Given the description of an element on the screen output the (x, y) to click on. 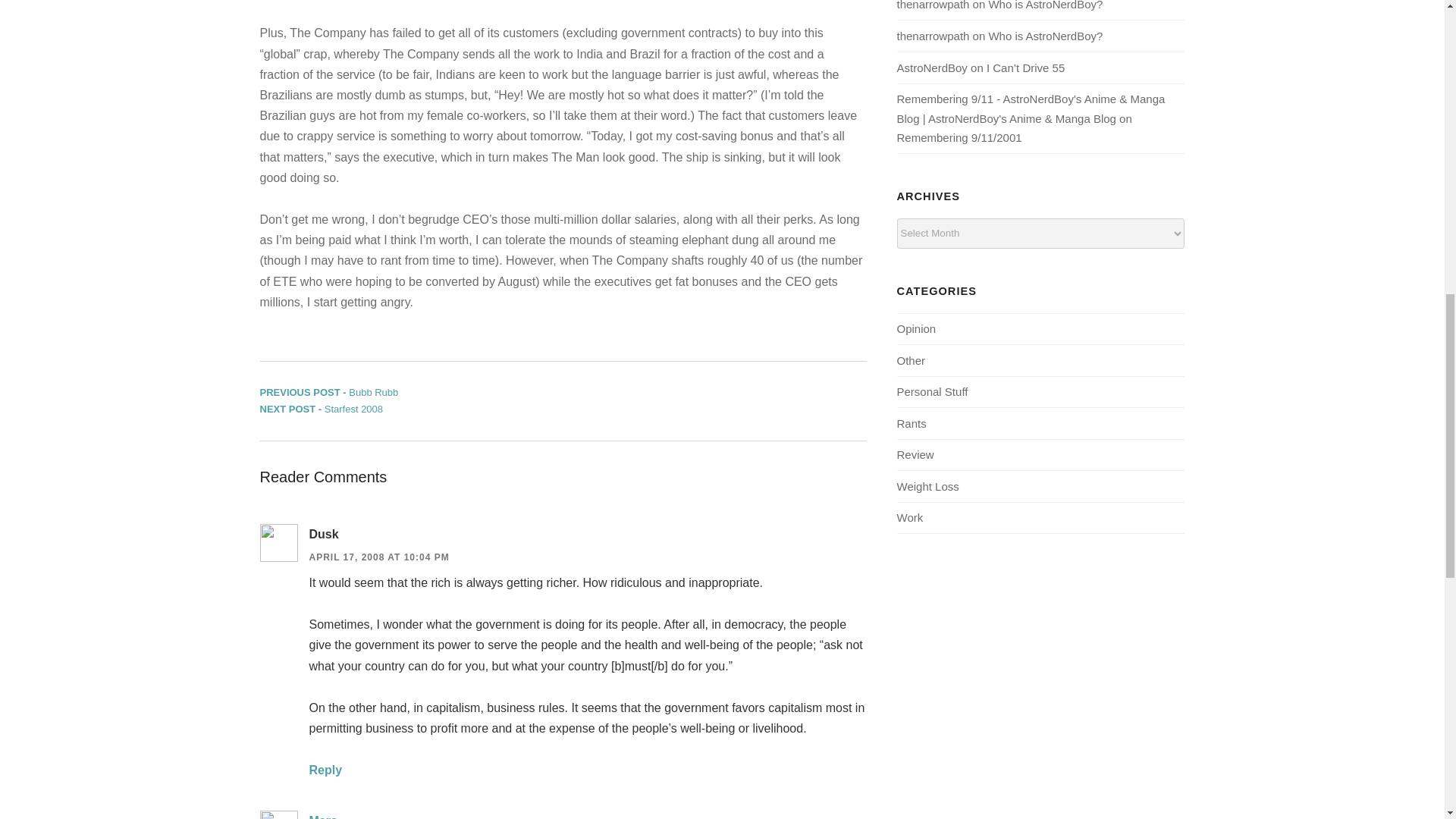
Weight Loss (927, 486)
Personal Stuff (932, 391)
Who is AstroNerdBoy? (1045, 5)
APRIL 17, 2008 AT 10:04 PM (378, 557)
Opinion (916, 328)
Review (914, 454)
Marc (322, 816)
Other (320, 408)
Reply (910, 359)
Rants (325, 769)
Who is AstroNerdBoy? (911, 422)
